Given the description of an element on the screen output the (x, y) to click on. 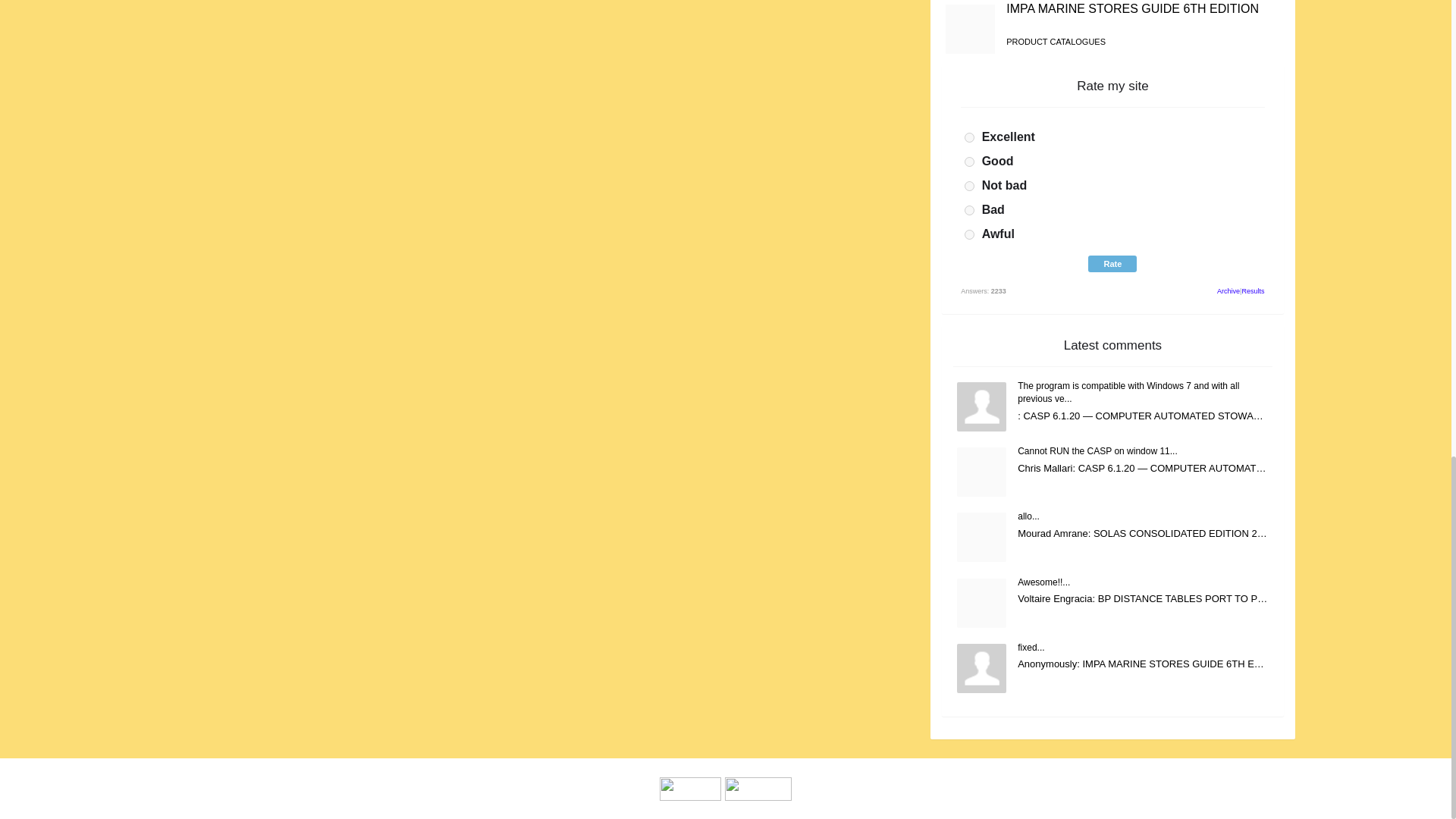
5 (968, 234)
PRODUCT CATALOGUES (1055, 40)
1 (968, 137)
3 (968, 185)
4 (968, 210)
IMPA MARINE STORES GUIDE 6TH EDITION (1132, 8)
2 (968, 162)
uCoz Counter (758, 788)
Rate (1112, 263)
